Given the description of an element on the screen output the (x, y) to click on. 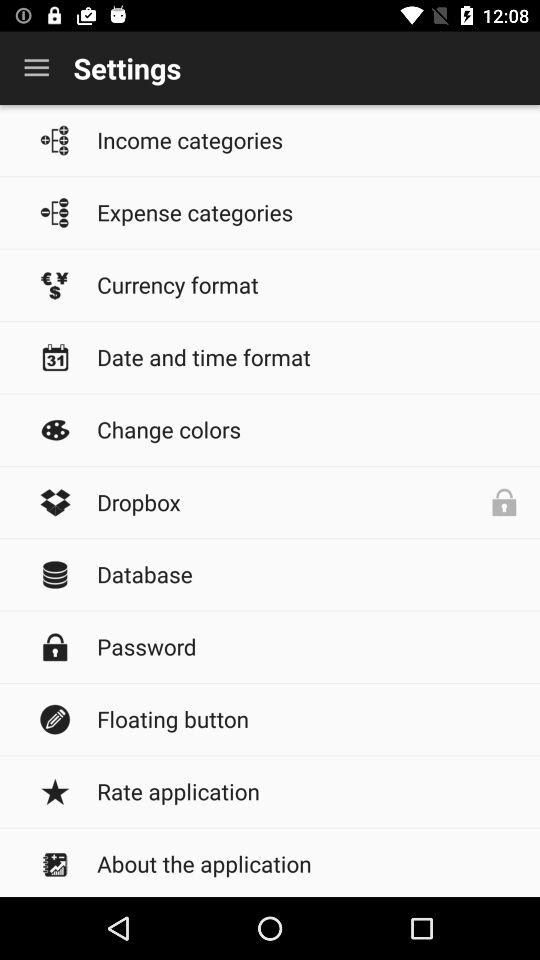
select the icon below date and time icon (308, 429)
